Given the description of an element on the screen output the (x, y) to click on. 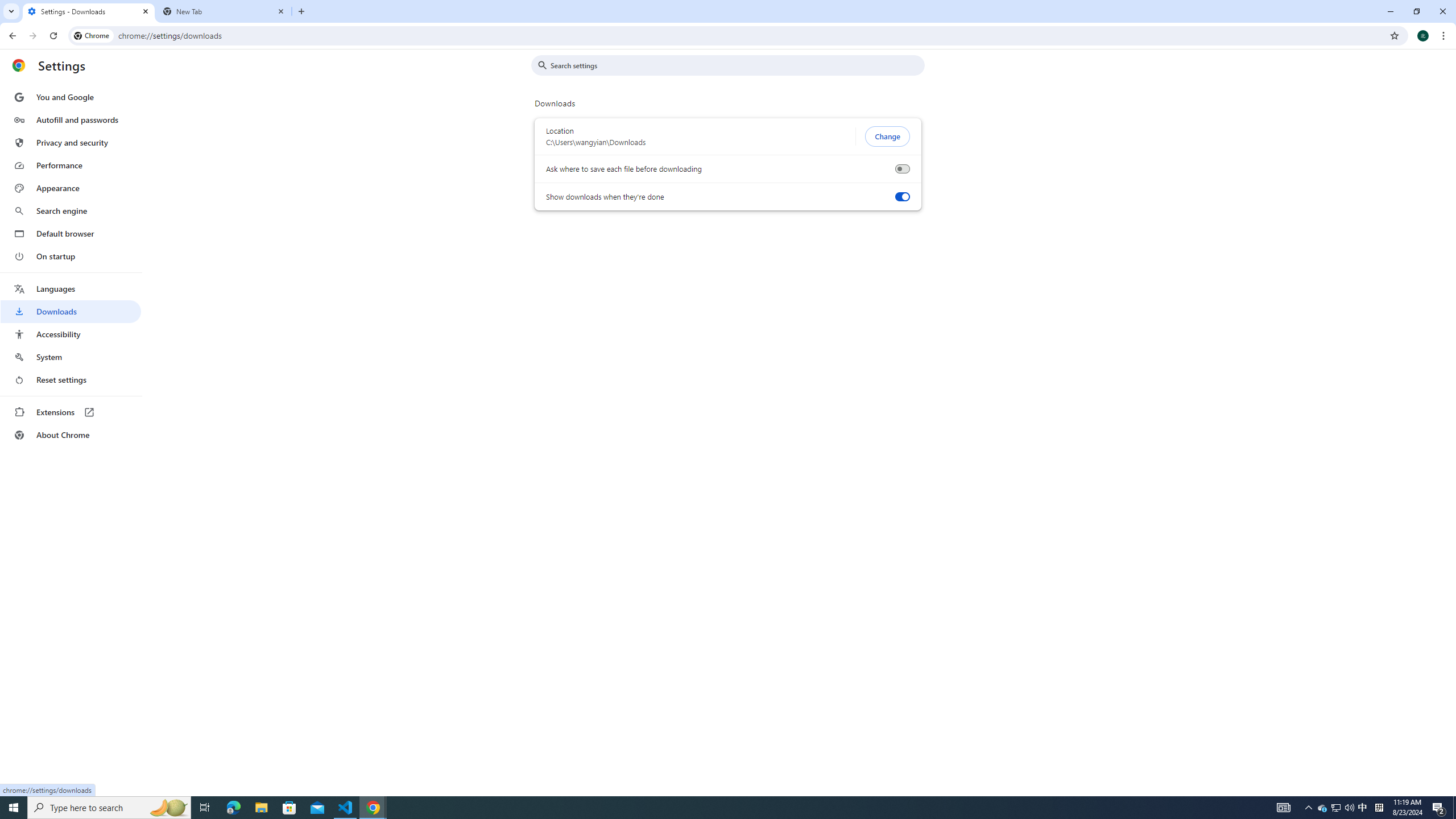
Settings - Downloads (88, 11)
About Chrome (70, 434)
Appearance (70, 187)
Change (887, 136)
Search engine (70, 210)
